Given the description of an element on the screen output the (x, y) to click on. 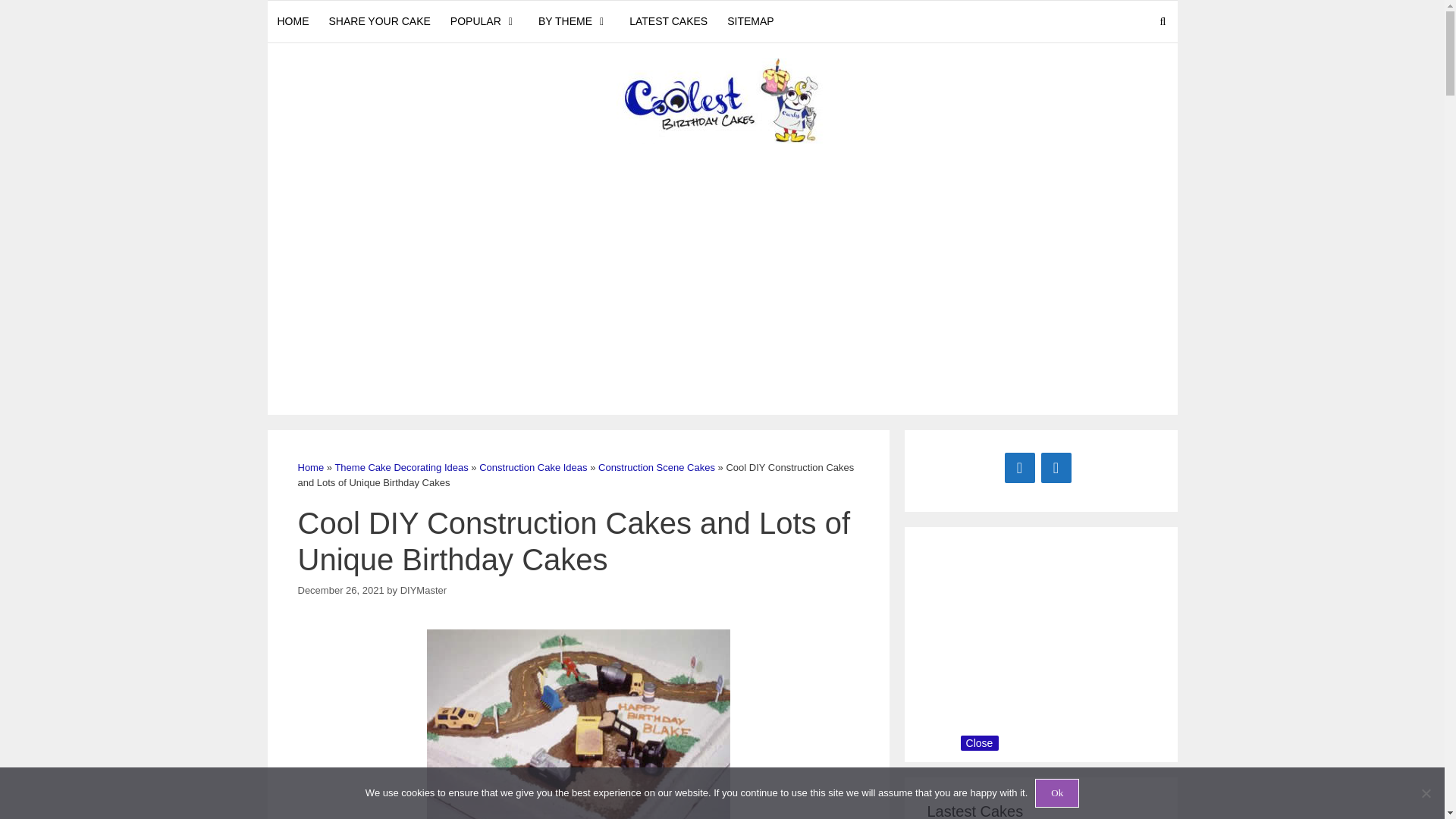
BY THEME (574, 21)
POPULAR (484, 21)
Home (310, 467)
Construction Cake Ideas (532, 467)
Instagram (1055, 467)
LATEST CAKES (668, 21)
Theme Cake Decorating Ideas (400, 467)
HOME (292, 21)
SITEMAP (750, 21)
SHARE YOUR CAKE (378, 21)
Facebook (1018, 467)
View all posts by DIYMaster (423, 589)
3rd party ad content (1040, 644)
